Given the description of an element on the screen output the (x, y) to click on. 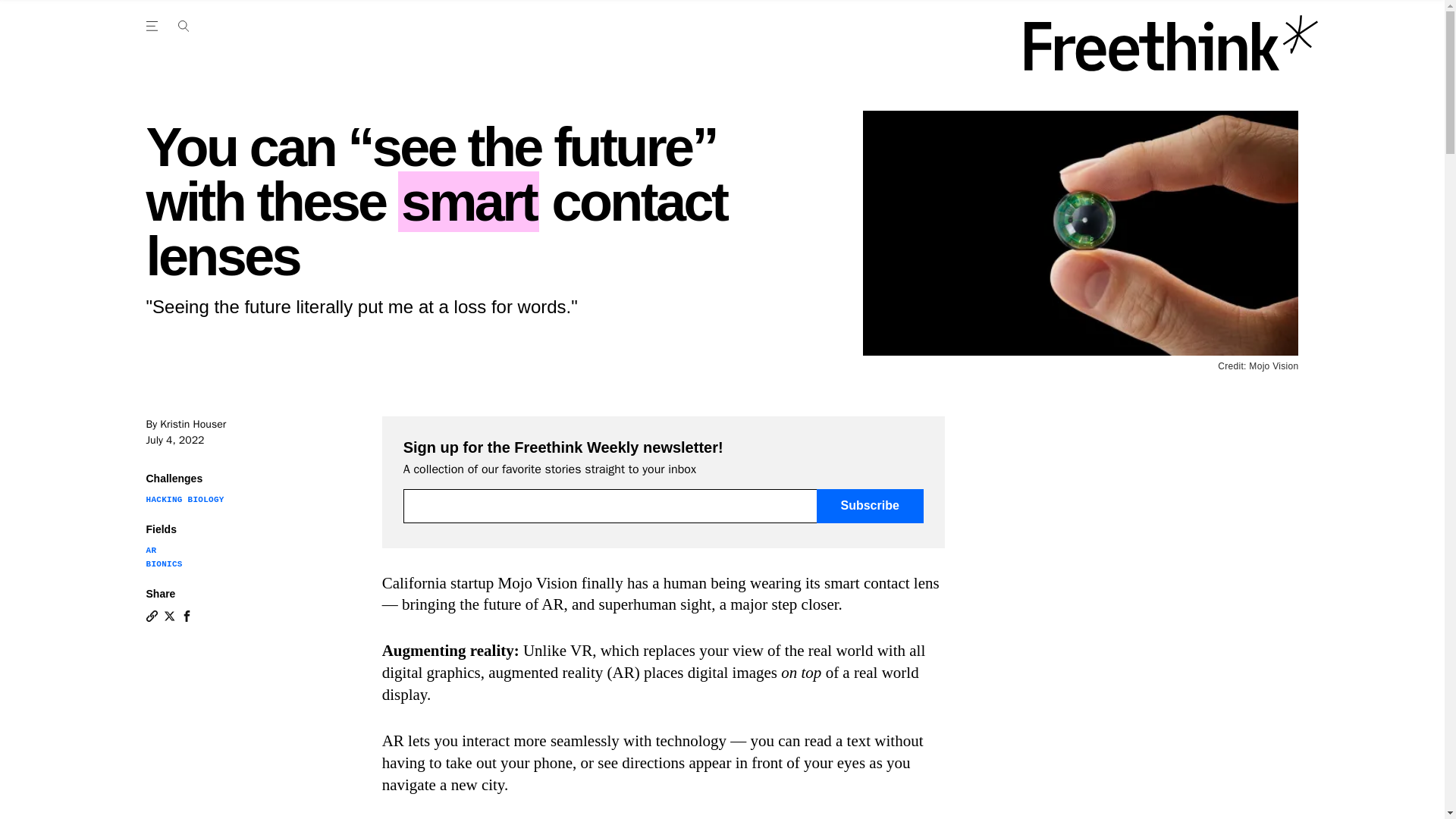
AR (150, 550)
HACKING BIOLOGY (184, 499)
Open the Main Navigation Menu (182, 26)
Open the Main Navigation Menu (153, 26)
Kristin Houser (192, 423)
